Given the description of an element on the screen output the (x, y) to click on. 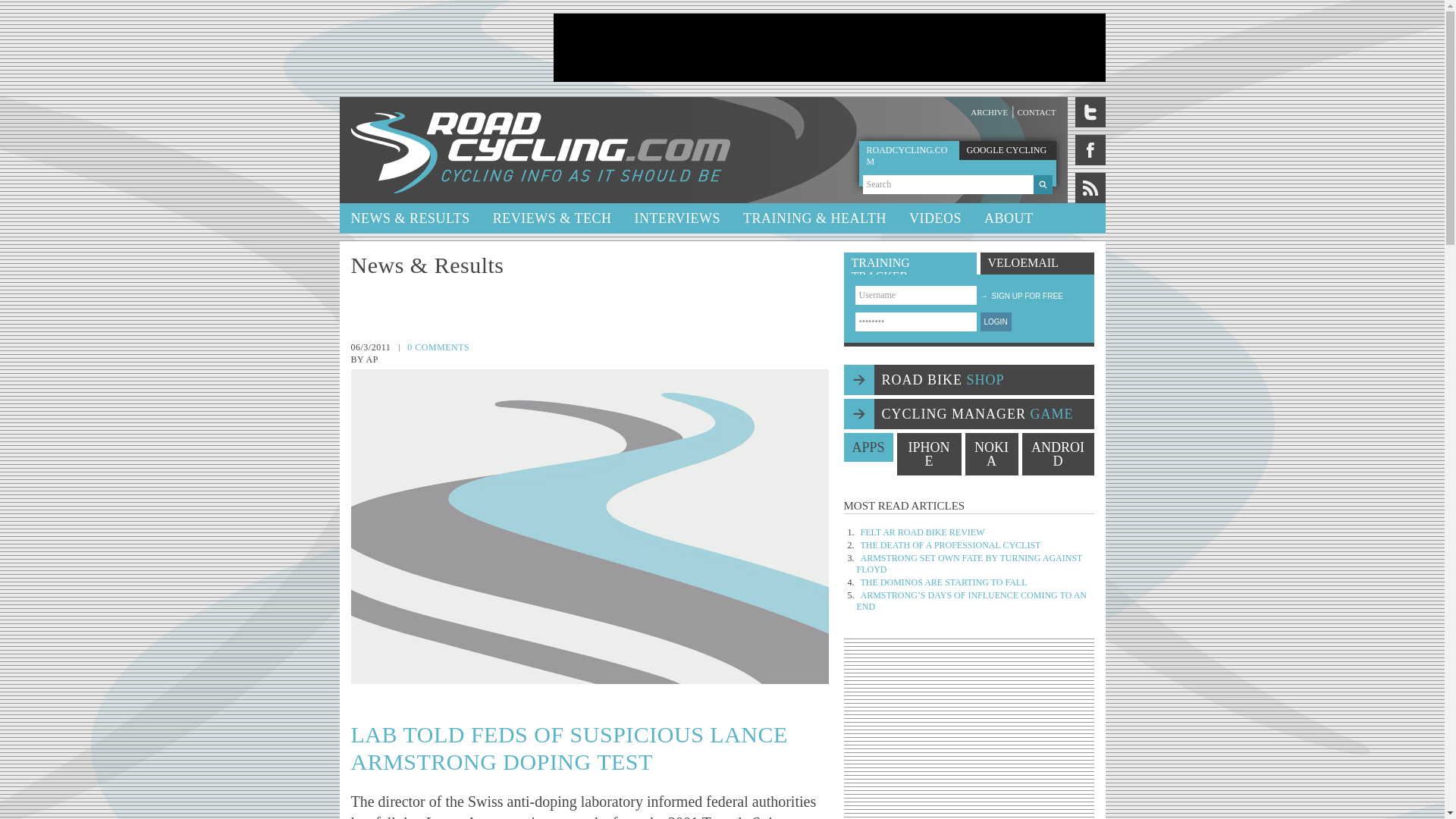
INTERVIEWS (677, 218)
THE DEATH OF A PROFESSIONAL CYCLIST (950, 544)
IPHONE (928, 454)
ABOUT (1008, 218)
Advertisement (829, 47)
Password (916, 321)
0 COMMENTS (437, 346)
ANDROID (1058, 454)
NOKIA (990, 454)
LOGIN (994, 321)
